Given the description of an element on the screen output the (x, y) to click on. 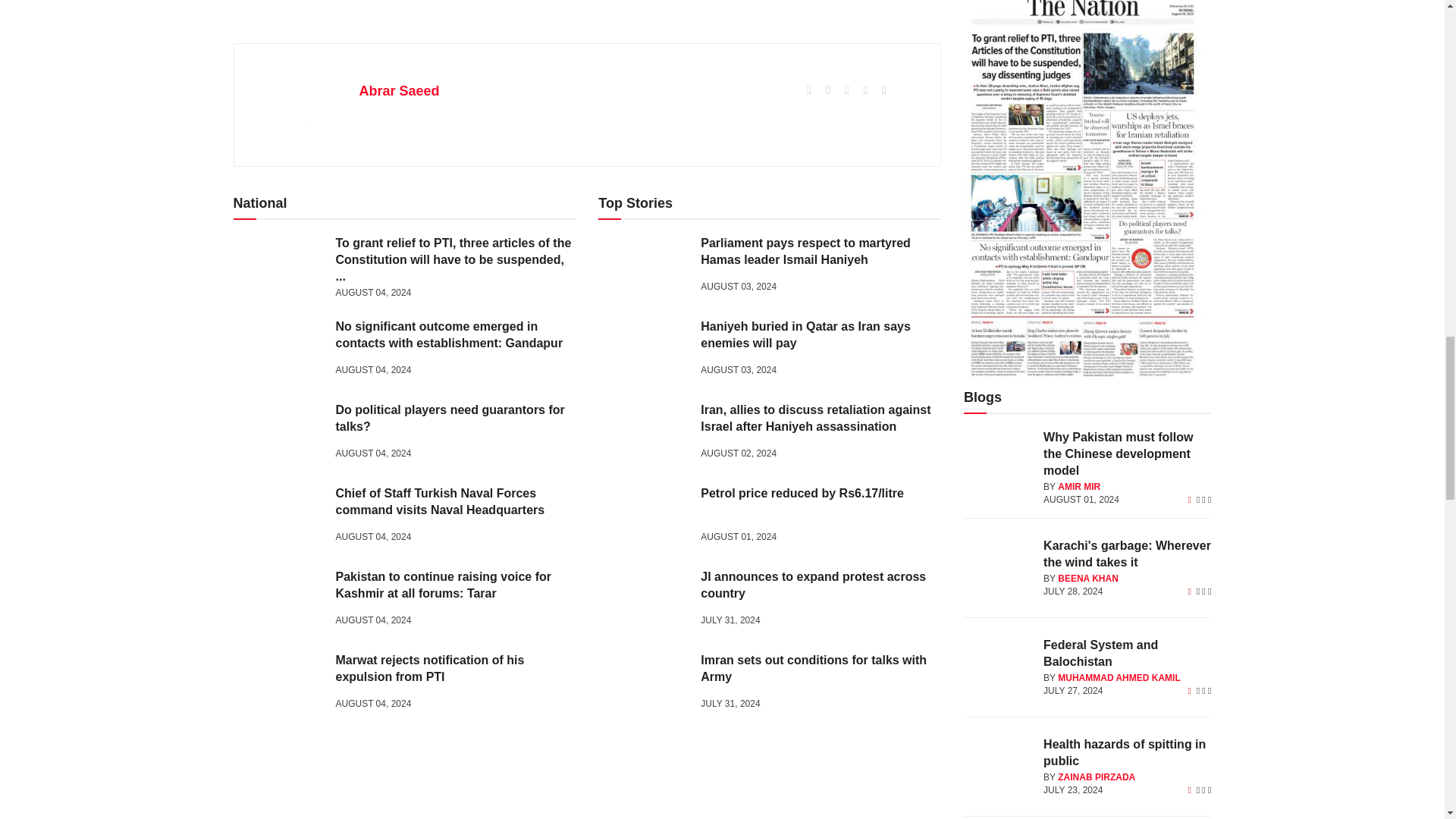
JI announces to expand protest across country (643, 600)
Marwat rejects notification of his expulsion from PTI (278, 683)
Haniyeh buried in Qatar as Iran says enemies will pay (643, 350)
Do political players need guarantors for talks? (278, 434)
Imran sets out conditions for talks with Army (643, 683)
